Given the description of an element on the screen output the (x, y) to click on. 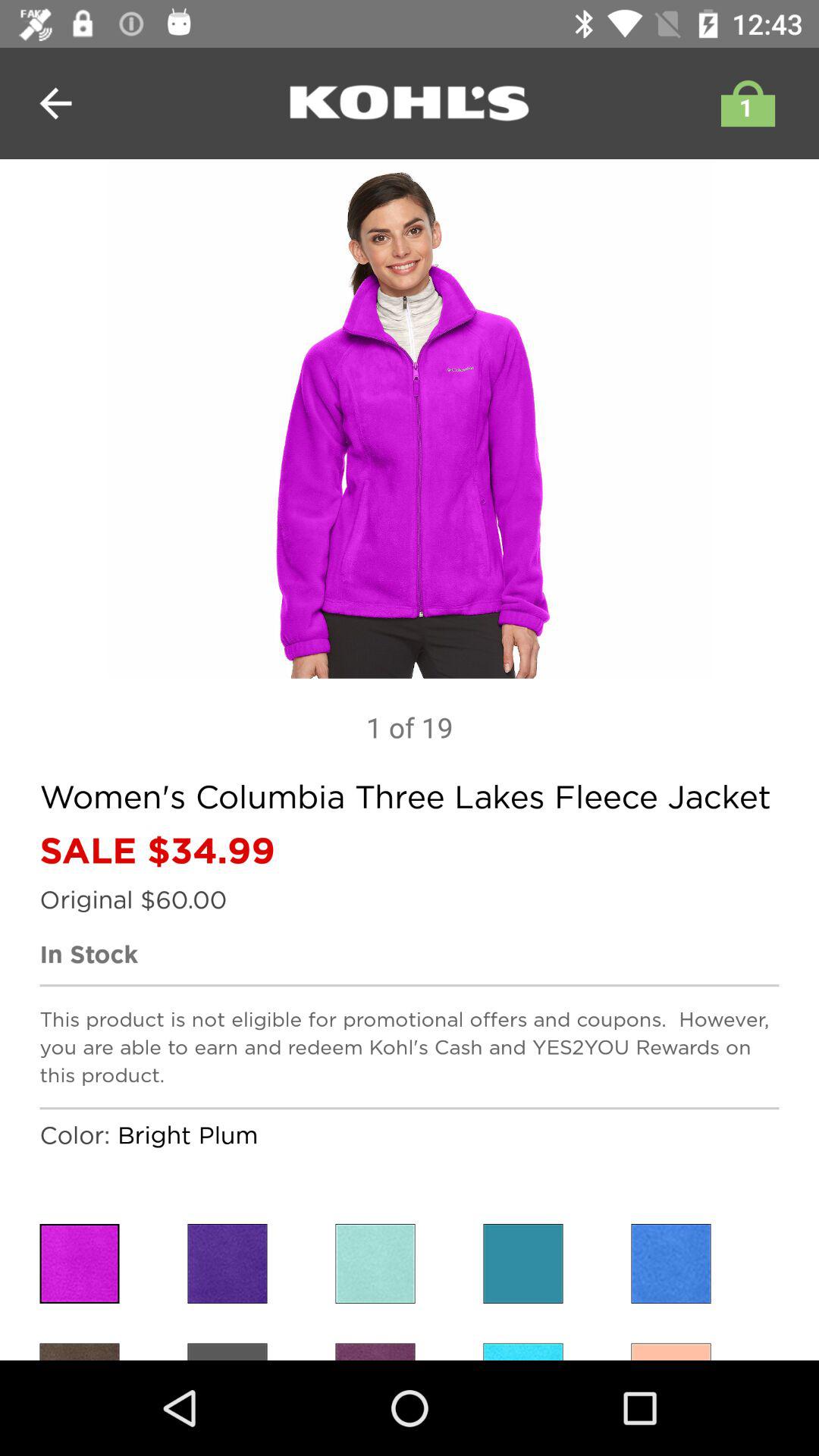
selection for a different color jacket (523, 1263)
